Given the description of an element on the screen output the (x, y) to click on. 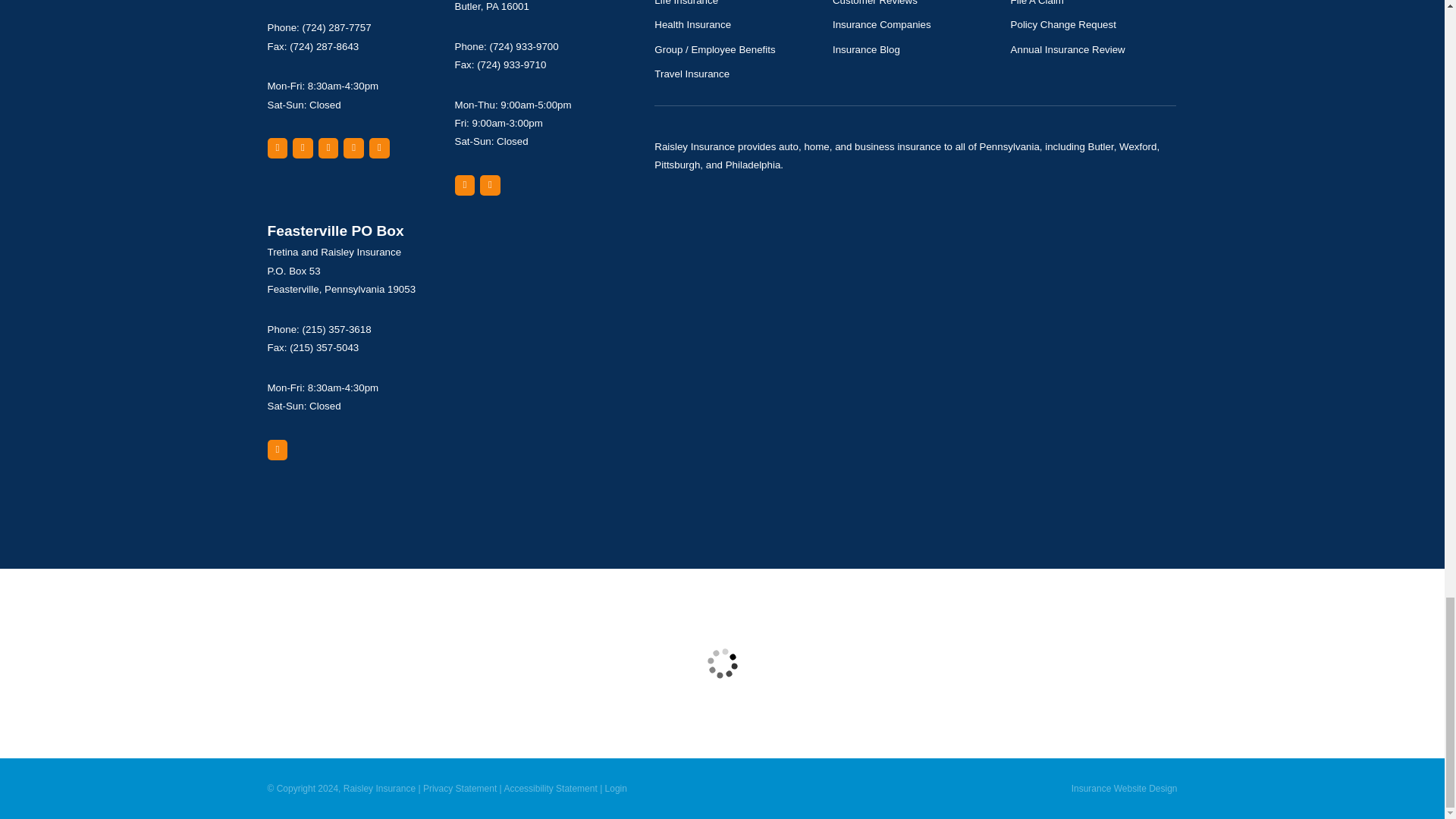
Instagram (379, 148)
Google Maps (276, 148)
LinkedIn (353, 148)
Facebook (328, 148)
Yelp (302, 148)
Yelp (490, 185)
Google Maps (465, 185)
Google Maps (276, 449)
